Given the description of an element on the screen output the (x, y) to click on. 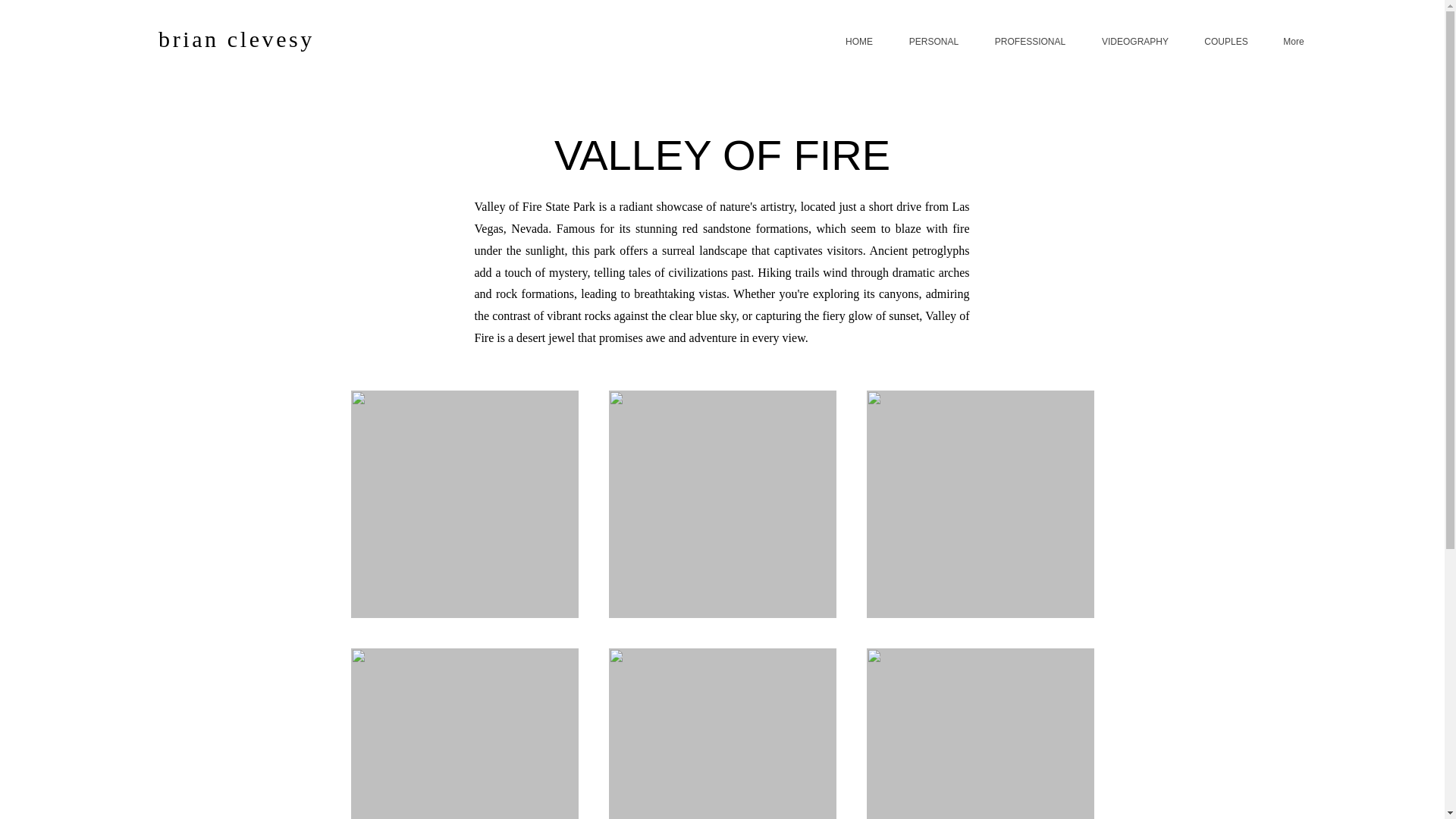
PERSONAL (932, 41)
COUPLES (1225, 41)
HOME (859, 41)
PROFESSIONAL (1029, 41)
VIDEOGRAPHY (1134, 41)
